Given the description of an element on the screen output the (x, y) to click on. 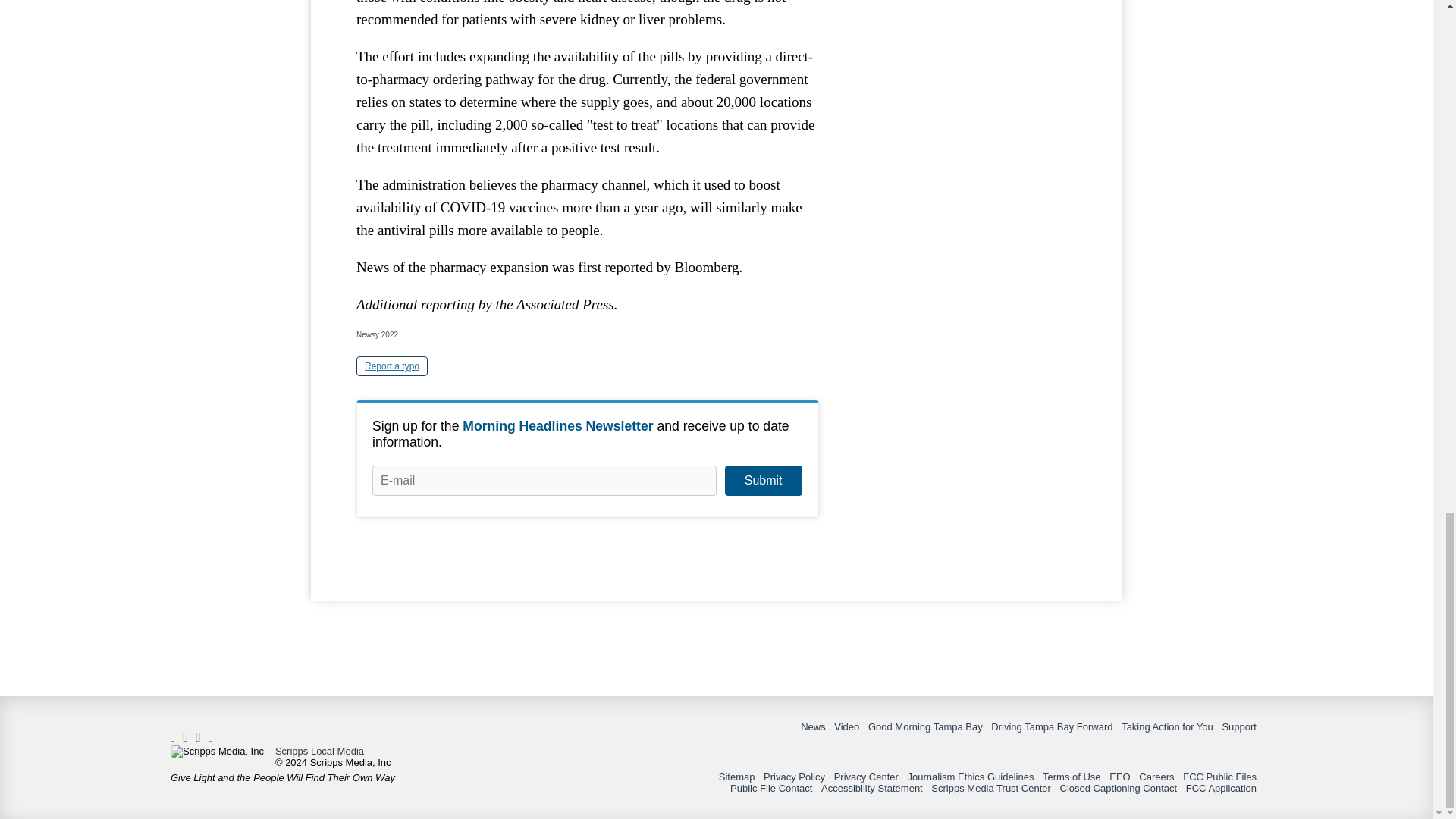
Submit (763, 481)
